Given the description of an element on the screen output the (x, y) to click on. 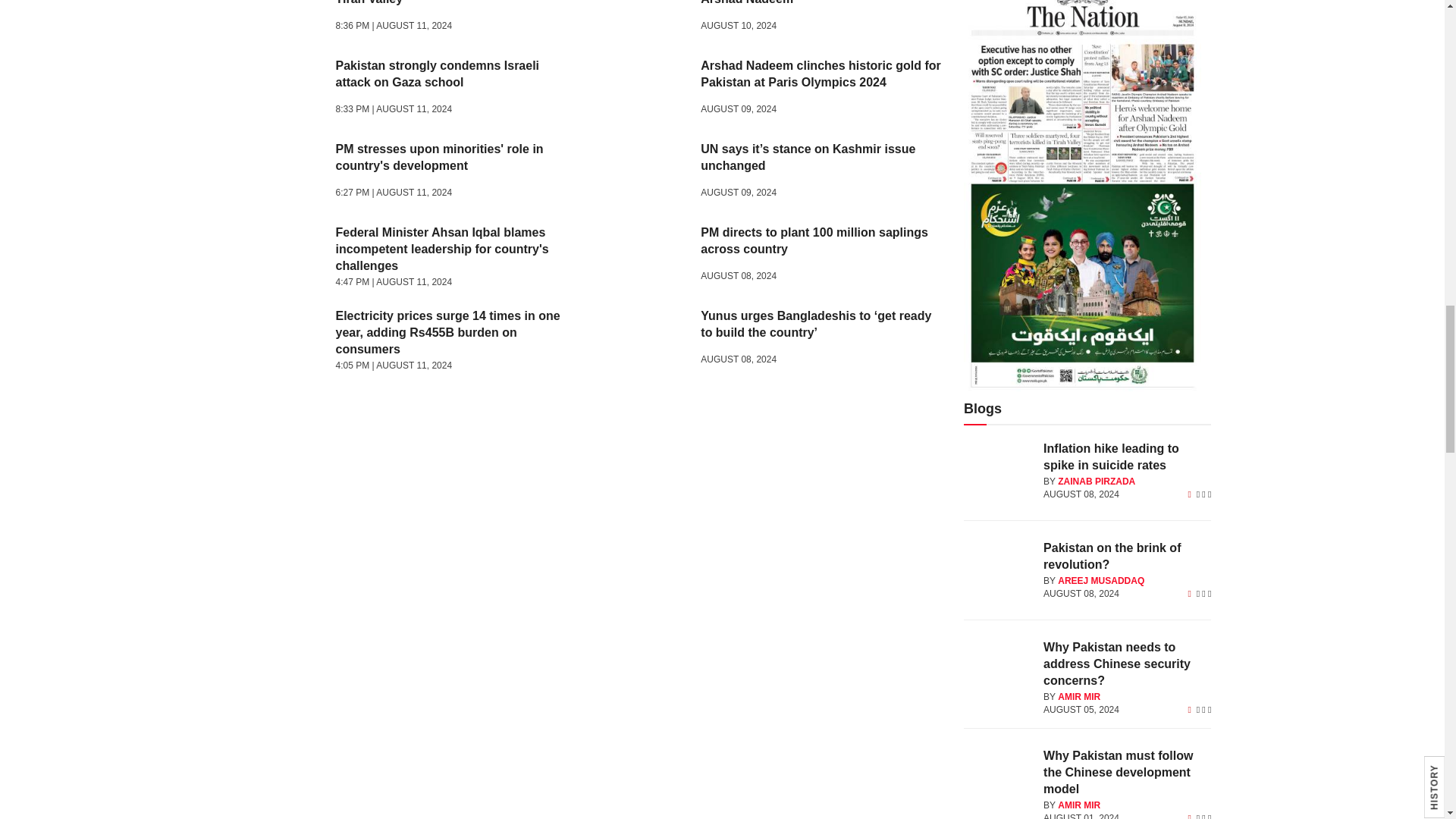
NA recommends highest civil award for Arshad Nadeem (643, 19)
Pakistan strongly condemns Israeli attack on Gaza school (278, 89)
Army officer martyred following attack in Tirah Valley (278, 19)
PM directs to plant 100 million saplings across country (643, 256)
